Given the description of an element on the screen output the (x, y) to click on. 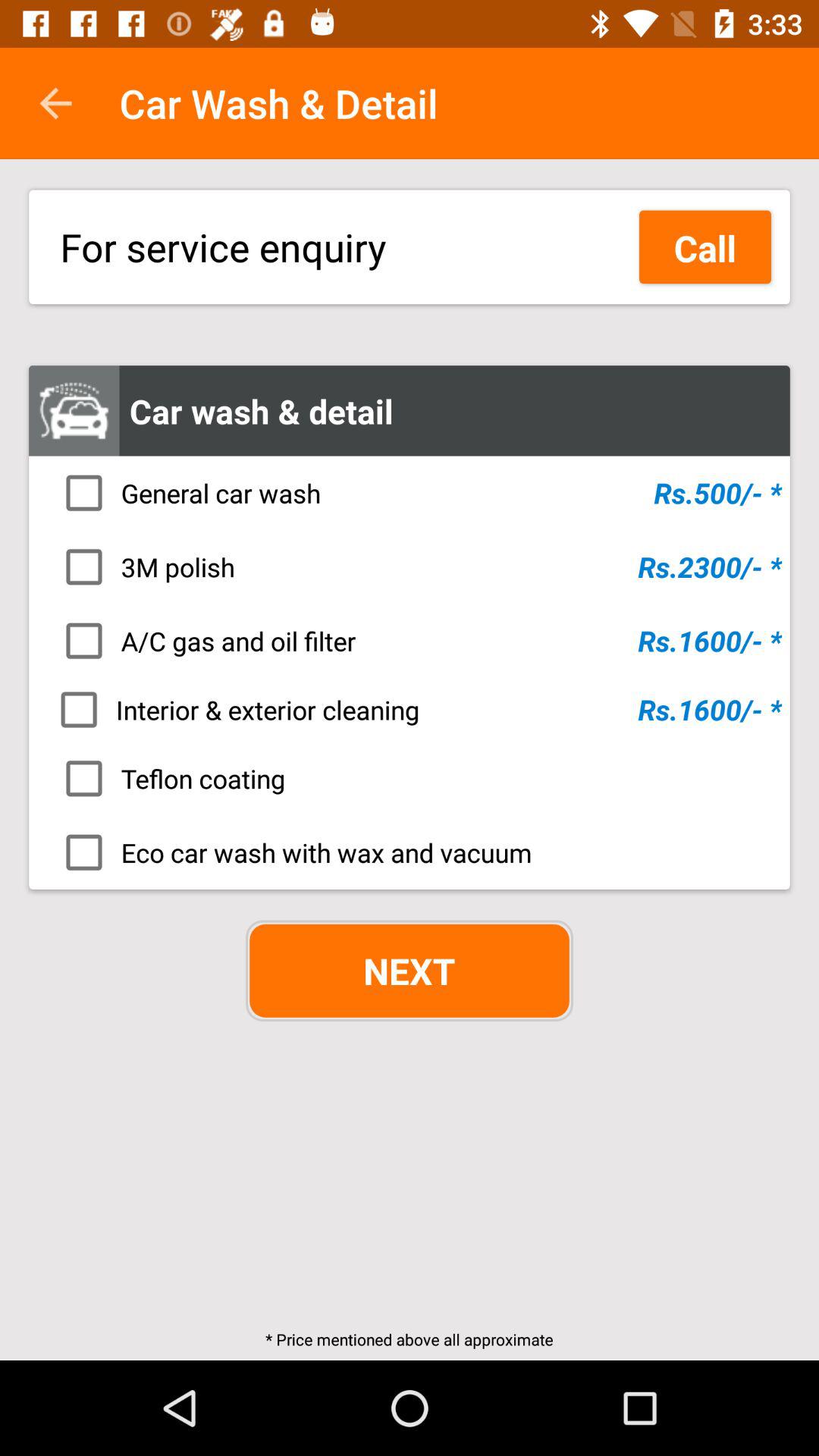
turn off teflon coating icon (414, 778)
